Given the description of an element on the screen output the (x, y) to click on. 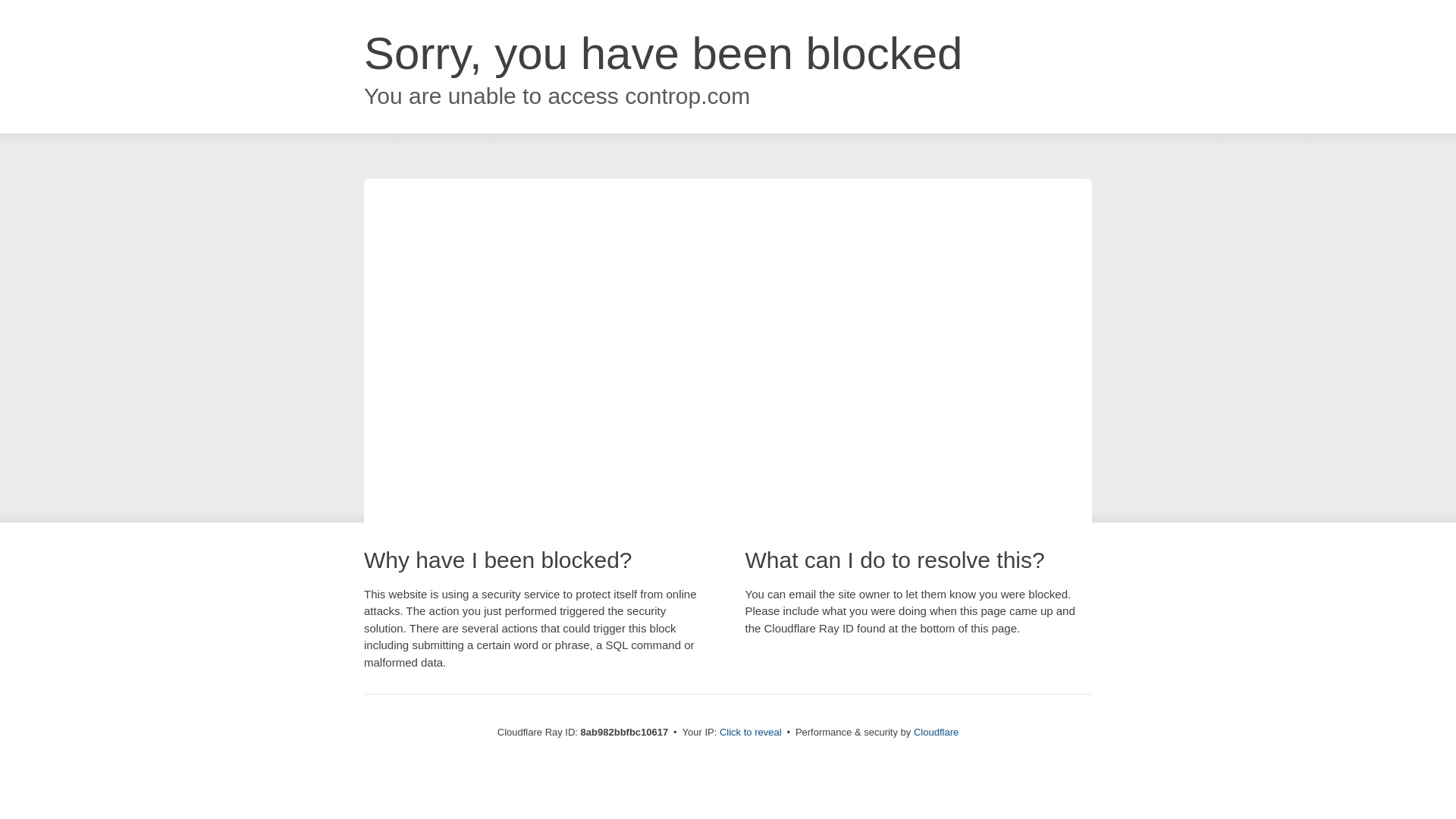
Cloudflare (936, 731)
Click to reveal (750, 732)
